Given the description of an element on the screen output the (x, y) to click on. 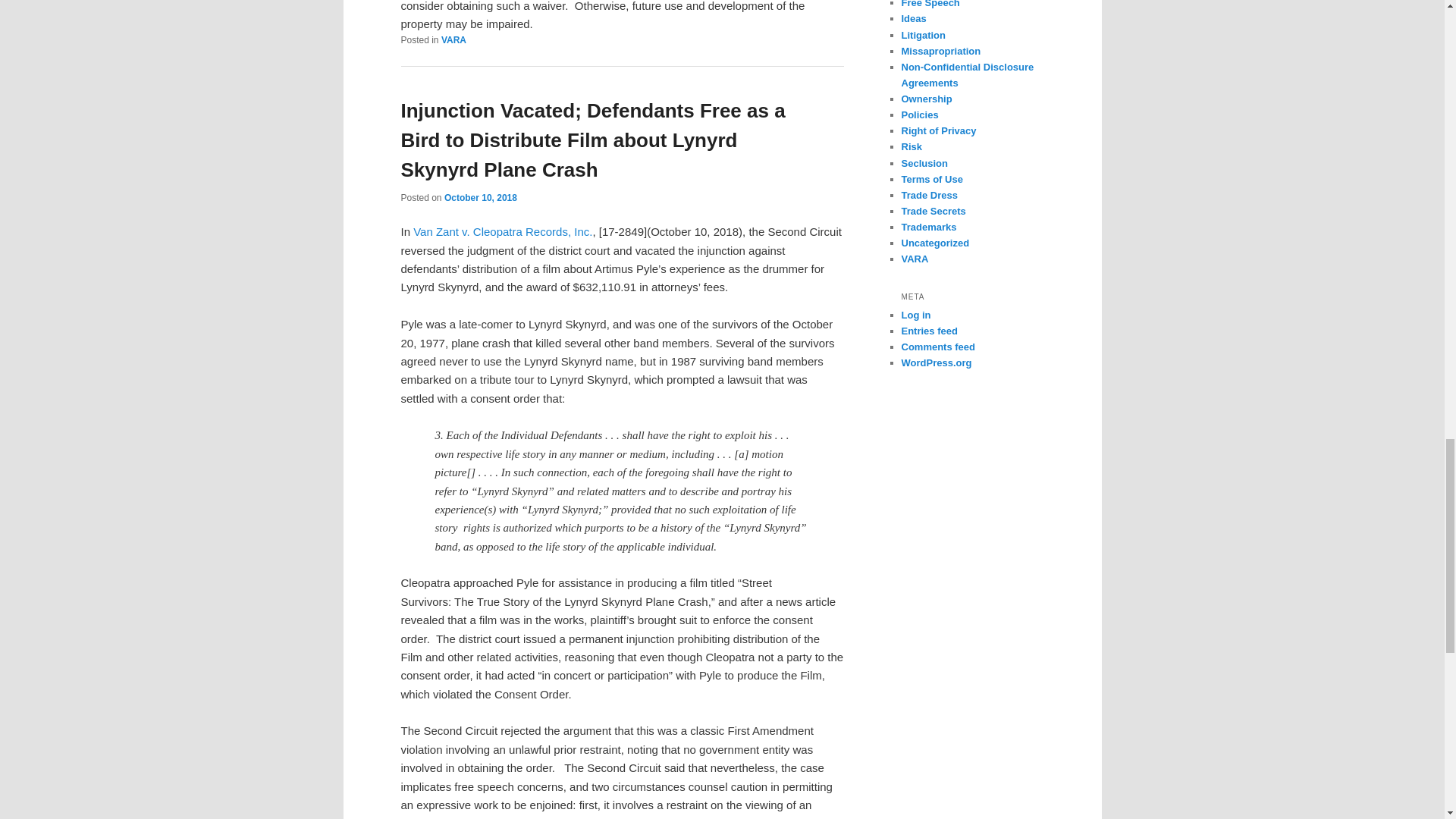
VARA (453, 40)
9:34 pm (480, 197)
October 10, 2018 (480, 197)
Van Zant v. Cleopatra Records, Inc. (502, 231)
